Given the description of an element on the screen output the (x, y) to click on. 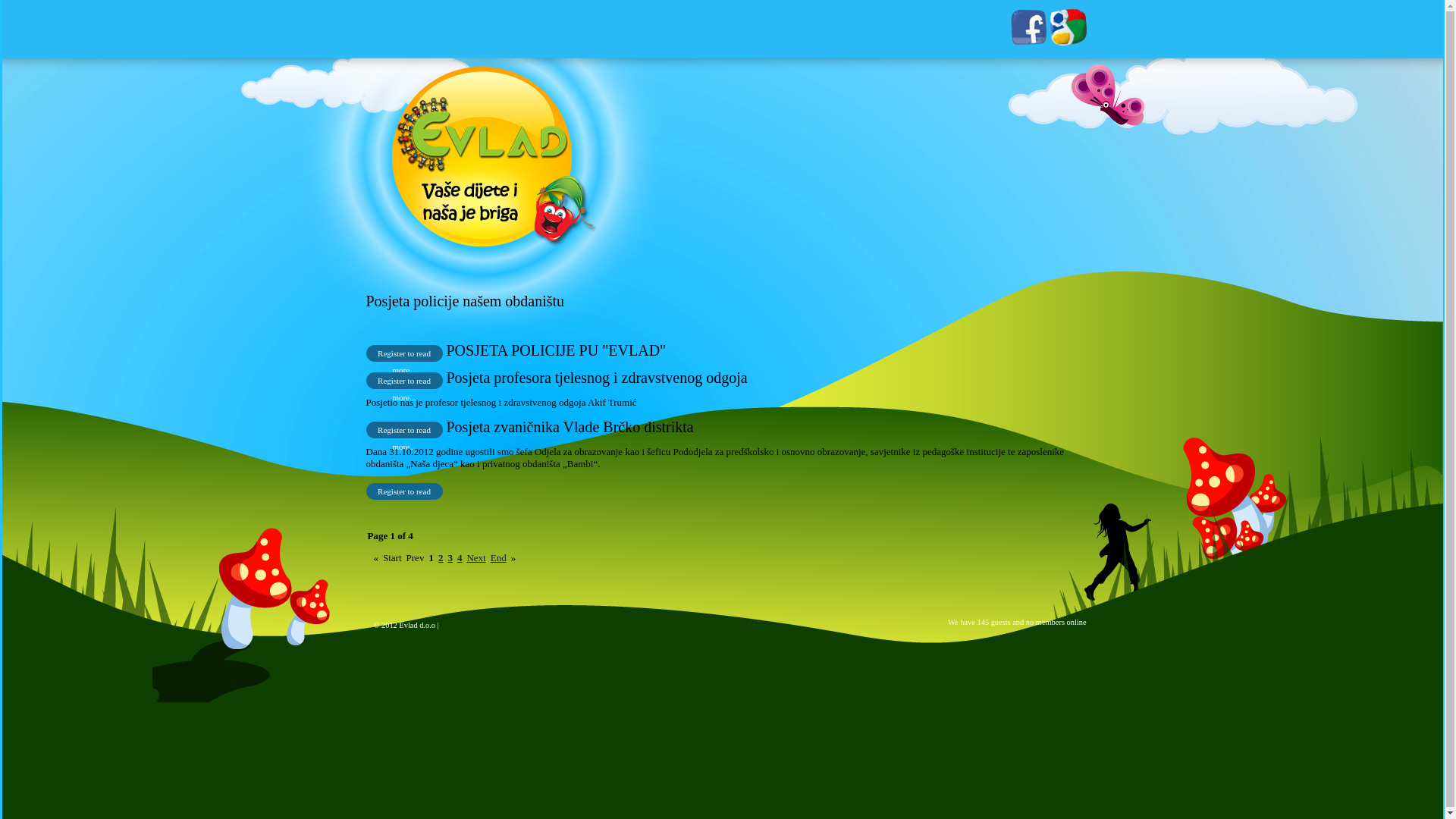
Register to read more... Element type: text (403, 429)
3 Element type: text (450, 557)
4 Element type: text (459, 557)
We have 145 guests and no members online Element type: text (729, 633)
Submit to Google Bookmarks Element type: hover (1067, 41)
Next Element type: text (475, 557)
Submit to Facebook Element type: hover (1029, 41)
Register to read more... Element type: text (403, 353)
Register to read more... Element type: text (403, 380)
2 Element type: text (440, 557)
End Element type: text (498, 557)
Register to read more... Element type: text (403, 491)
